Given the description of an element on the screen output the (x, y) to click on. 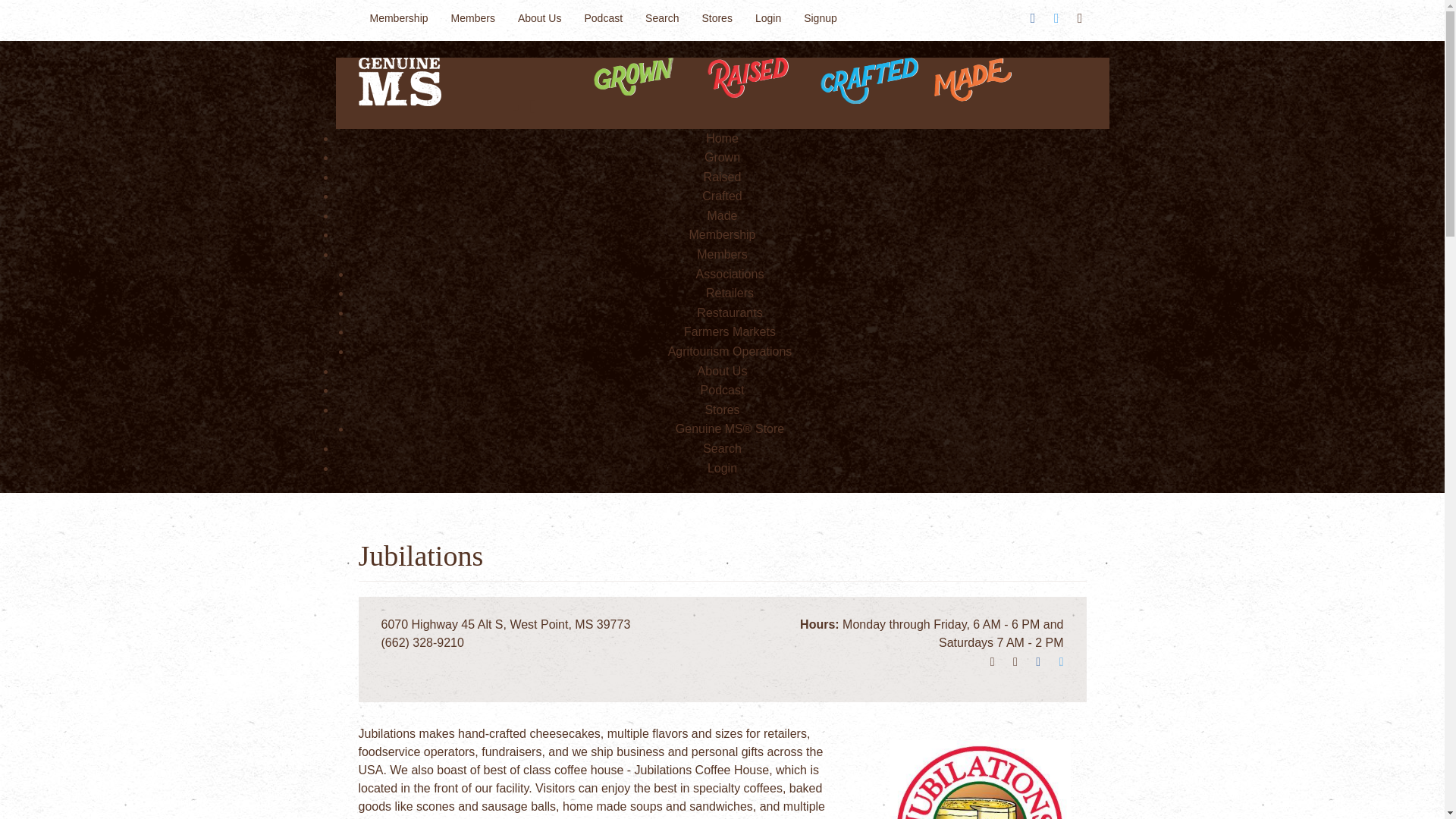
About Us (539, 18)
Podcast (602, 18)
Stores (716, 18)
Login (768, 18)
Membership (398, 18)
Members (472, 18)
Search (661, 18)
Signup (820, 18)
